Given the description of an element on the screen output the (x, y) to click on. 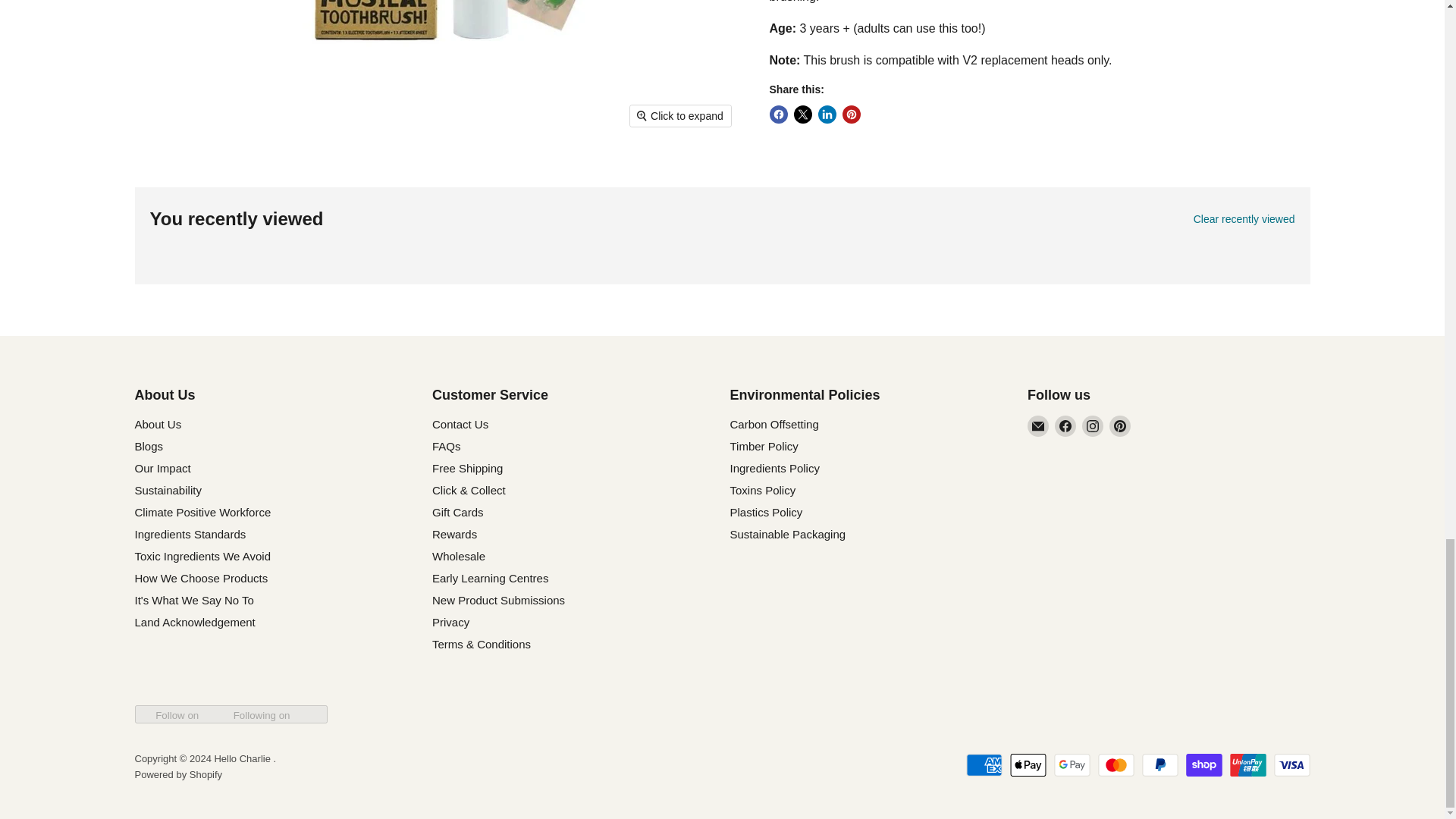
Email (1037, 425)
Facebook (1064, 425)
Instagram (1092, 425)
Pinterest (1120, 425)
